Given the description of an element on the screen output the (x, y) to click on. 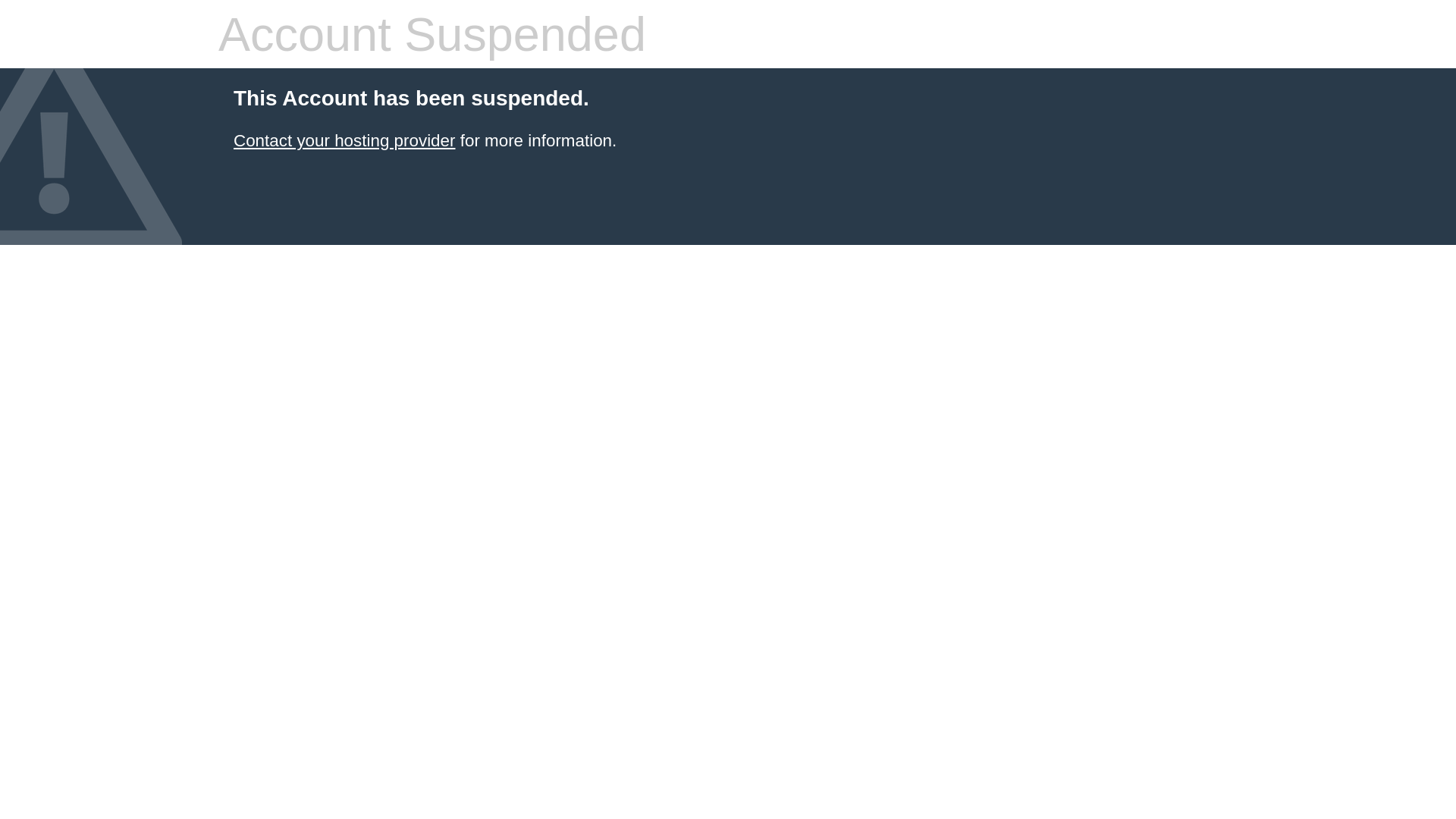
Contact your hosting provider Element type: text (344, 140)
